Given the description of an element on the screen output the (x, y) to click on. 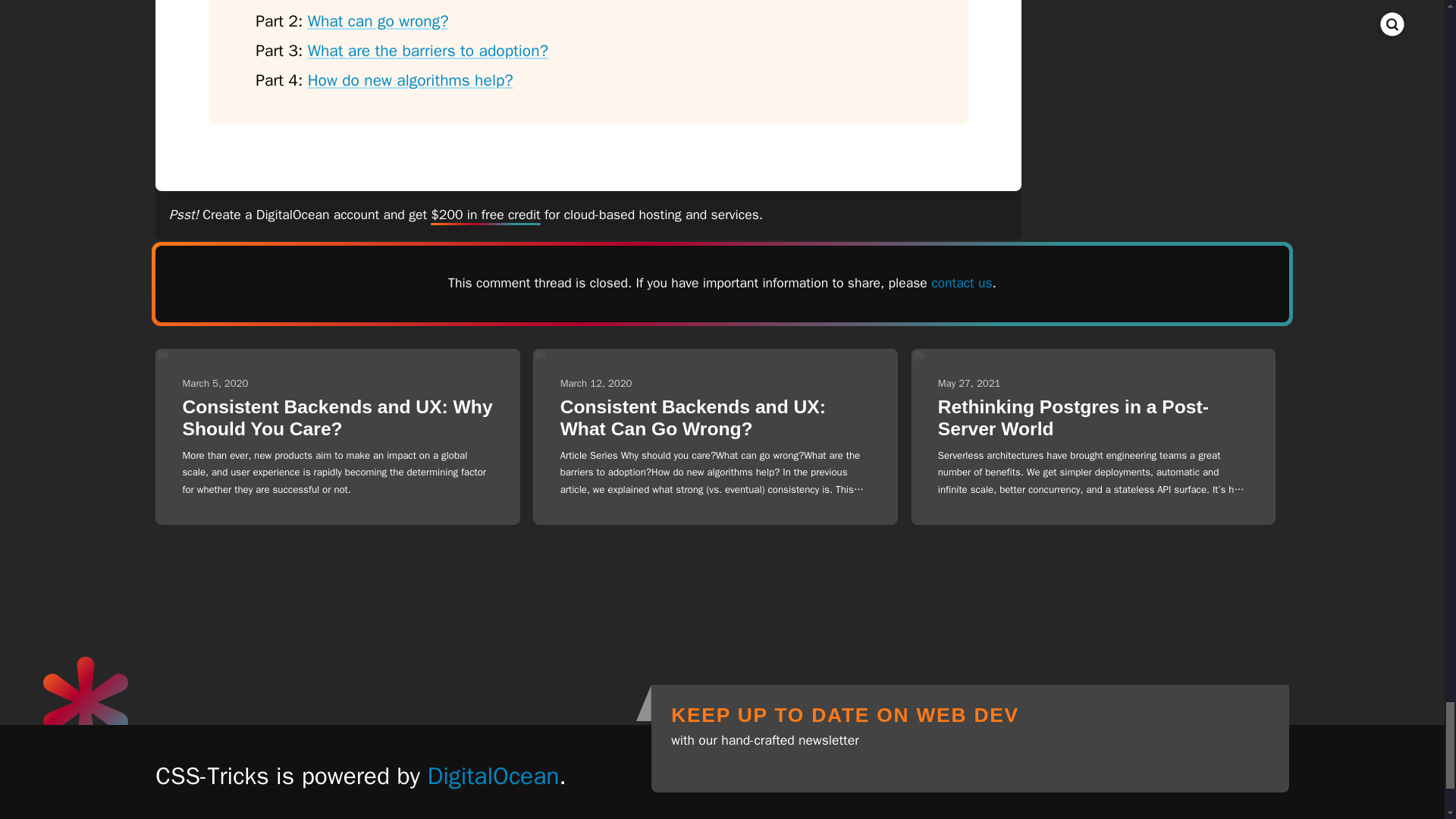
contact us (961, 282)
Rethinking Postgres in a Post-Server World (1072, 417)
How do new algorithms help? (410, 80)
Consistent Backends and UX: Why Should You Care? (337, 417)
What can go wrong? (377, 21)
Consistent Backends and UX: Why Should You Care? (337, 417)
What are the barriers to adoption? (427, 50)
Consistent Backends and UX: What Can Go Wrong? (692, 417)
